Given the description of an element on the screen output the (x, y) to click on. 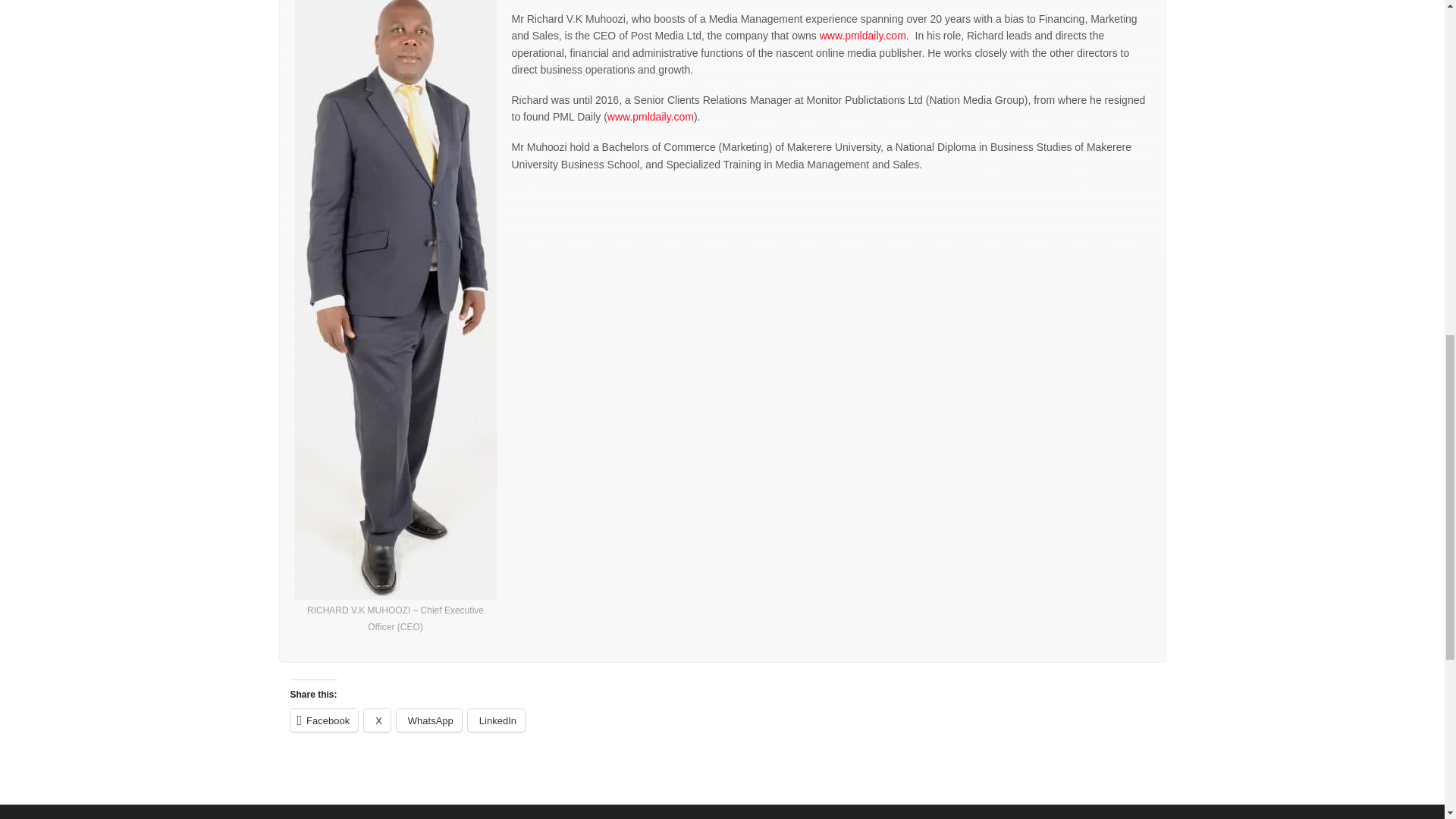
Click to share on WhatsApp (428, 720)
Click to share on LinkedIn (495, 720)
Click to share on X (377, 720)
Click to share on Facebook (323, 720)
